Given the description of an element on the screen output the (x, y) to click on. 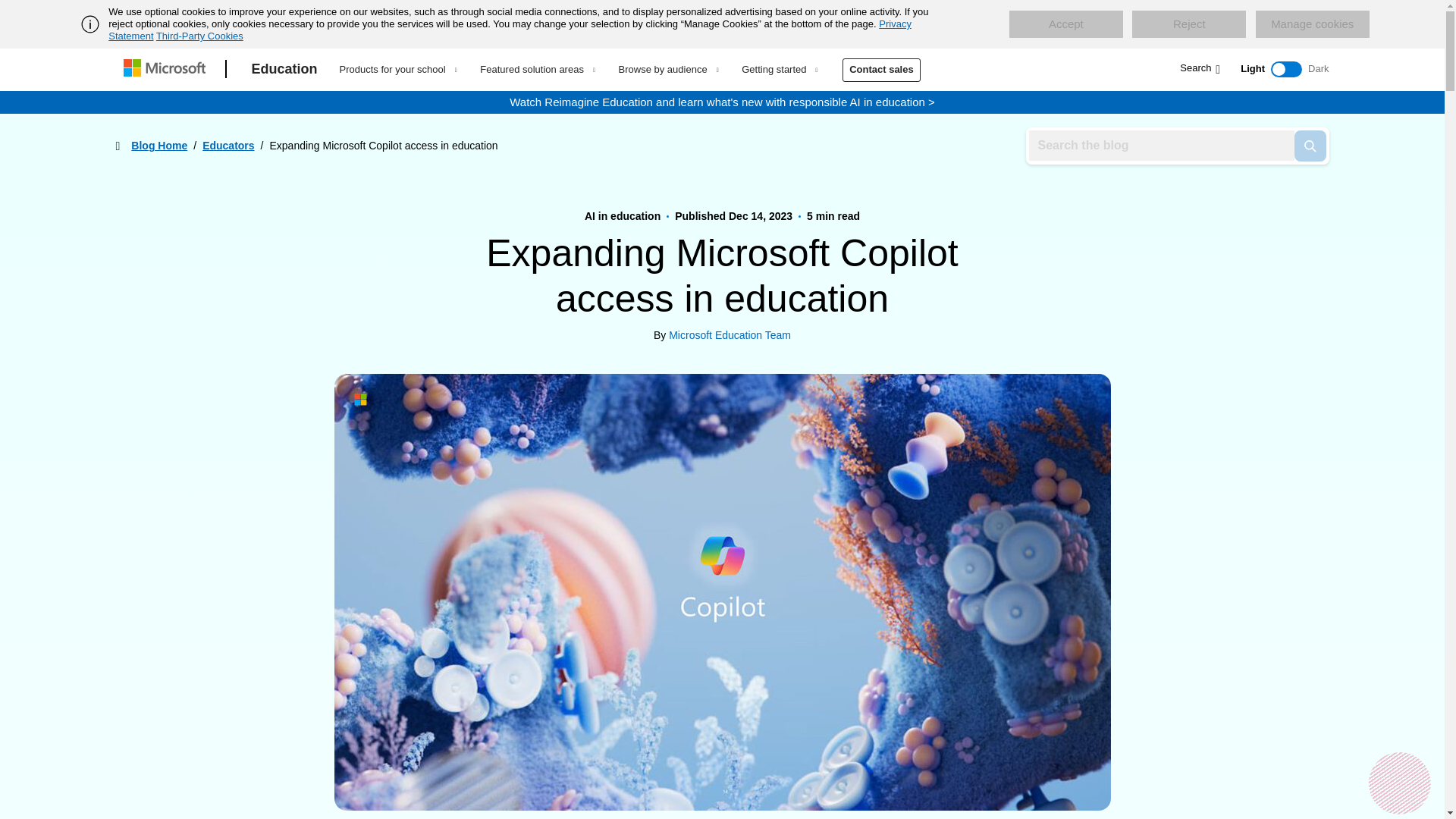
Manage cookies (1312, 23)
Featured solution areas (537, 69)
Browse by audience (667, 69)
Products for your school (397, 69)
Privacy Statement (509, 29)
Reject (1189, 23)
Third-Party Cookies (199, 35)
Accept (1065, 23)
Education (284, 69)
Microsoft (167, 69)
